Given the description of an element on the screen output the (x, y) to click on. 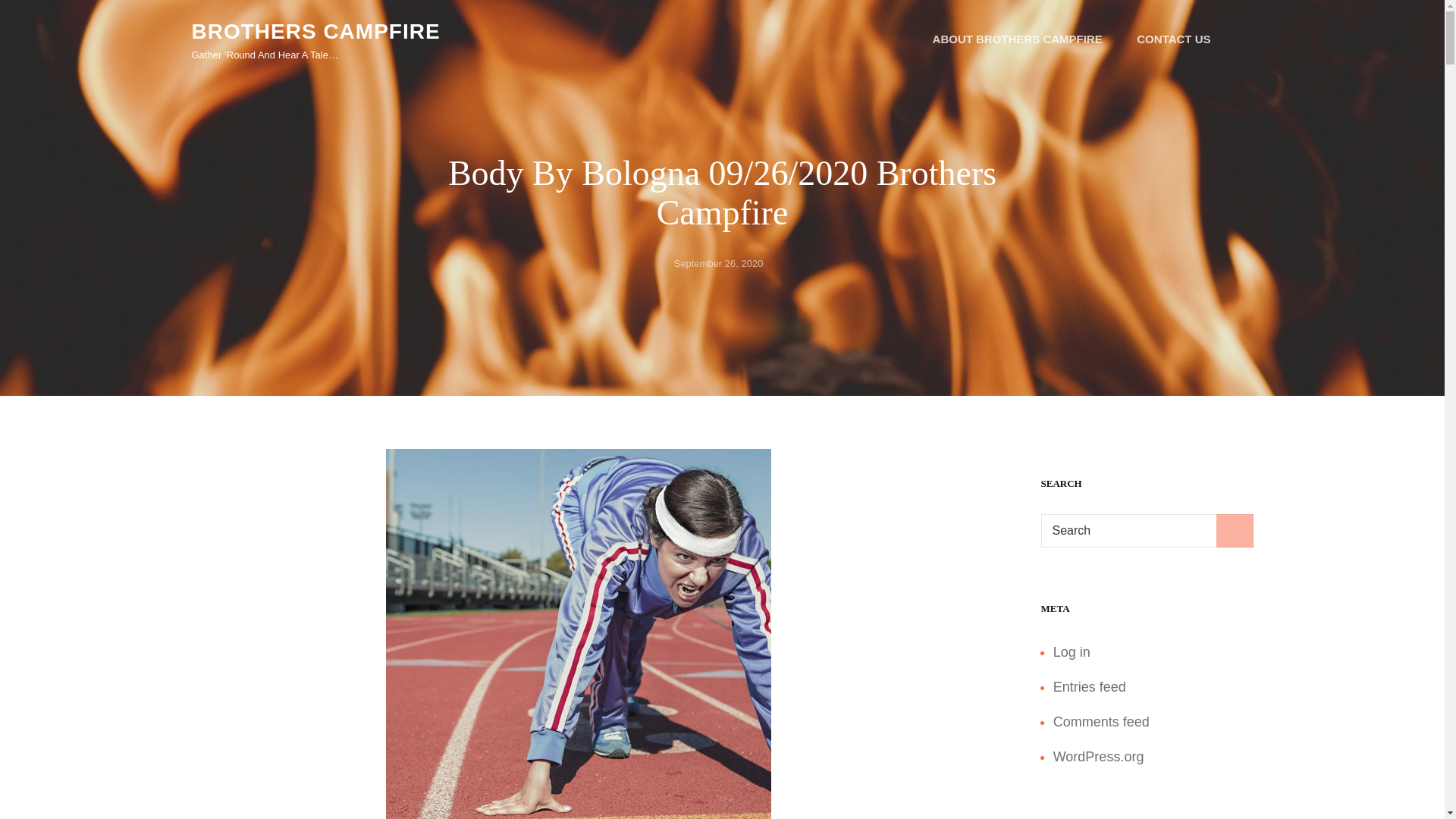
ABOUT BROTHERS CAMPFIRE (1017, 39)
September 26, 2020 (718, 263)
BROTHERS CAMPFIRE (314, 31)
CONTACT US (1173, 39)
